Given the description of an element on the screen output the (x, y) to click on. 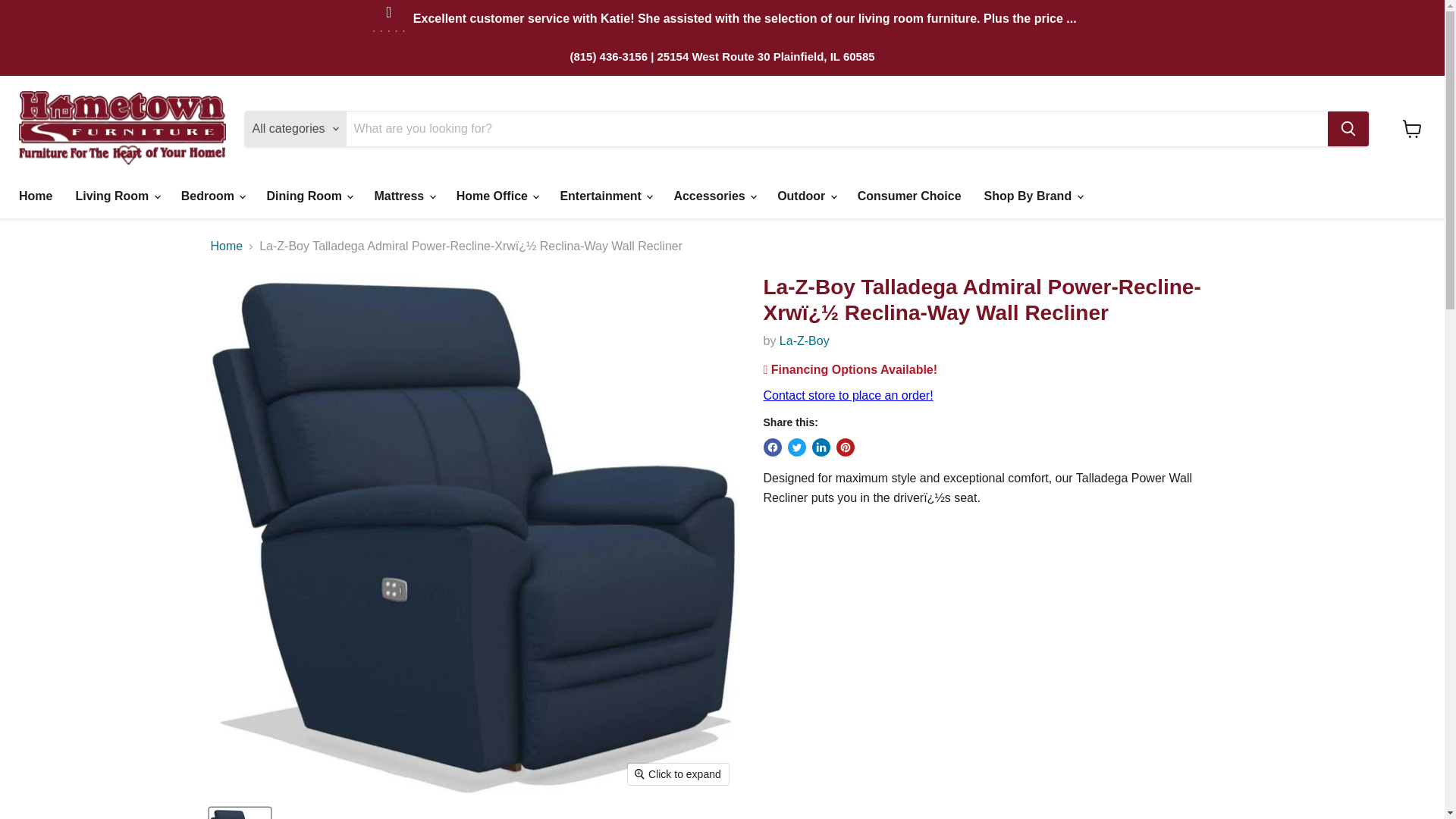
View cart (1411, 128)
Home (35, 196)
La-Z-Boy (803, 340)
